Given the description of an element on the screen output the (x, y) to click on. 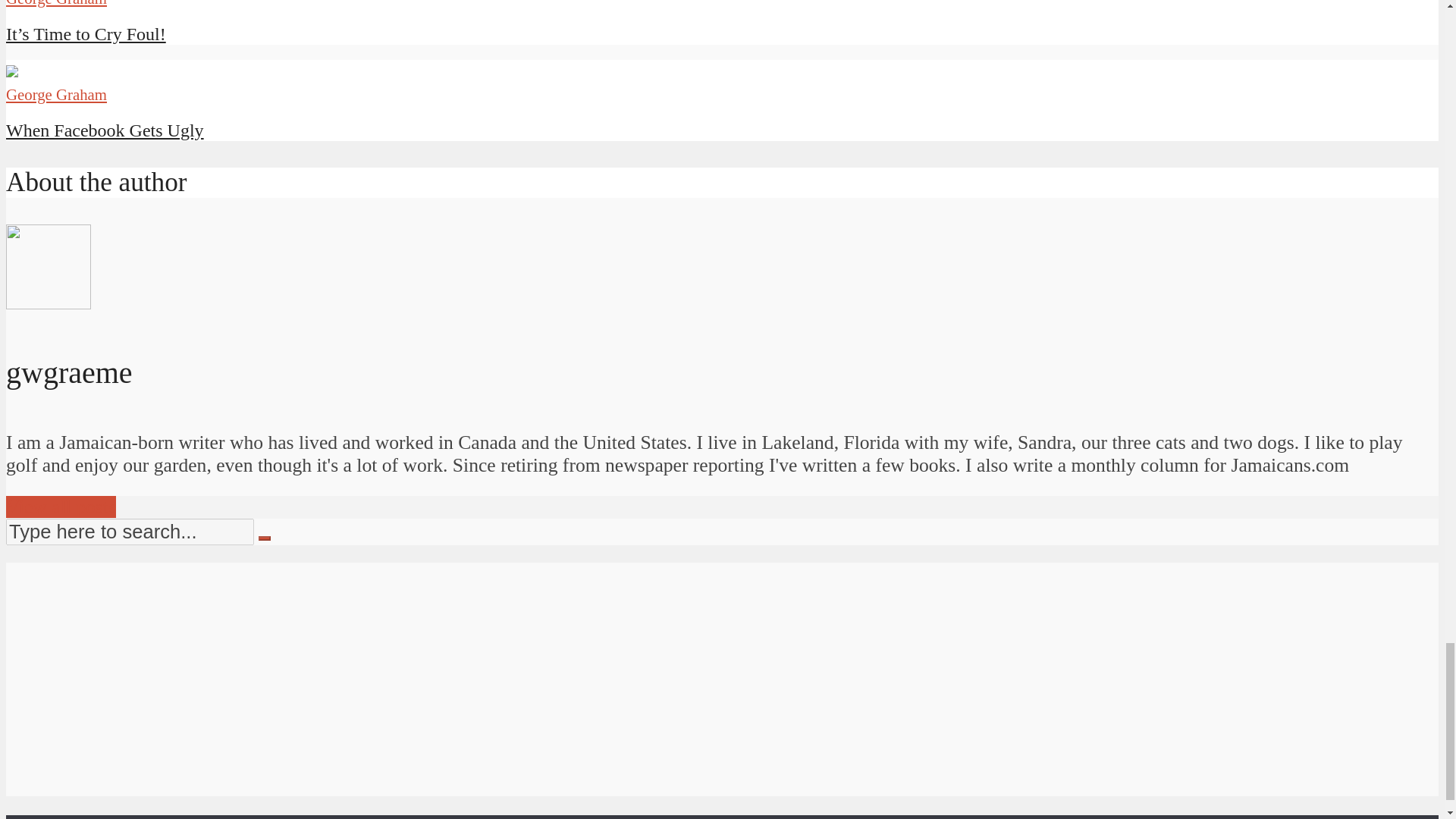
Type here to search... (129, 531)
When Facebook Gets Ugly (104, 130)
Type here to search... (129, 531)
